Given the description of an element on the screen output the (x, y) to click on. 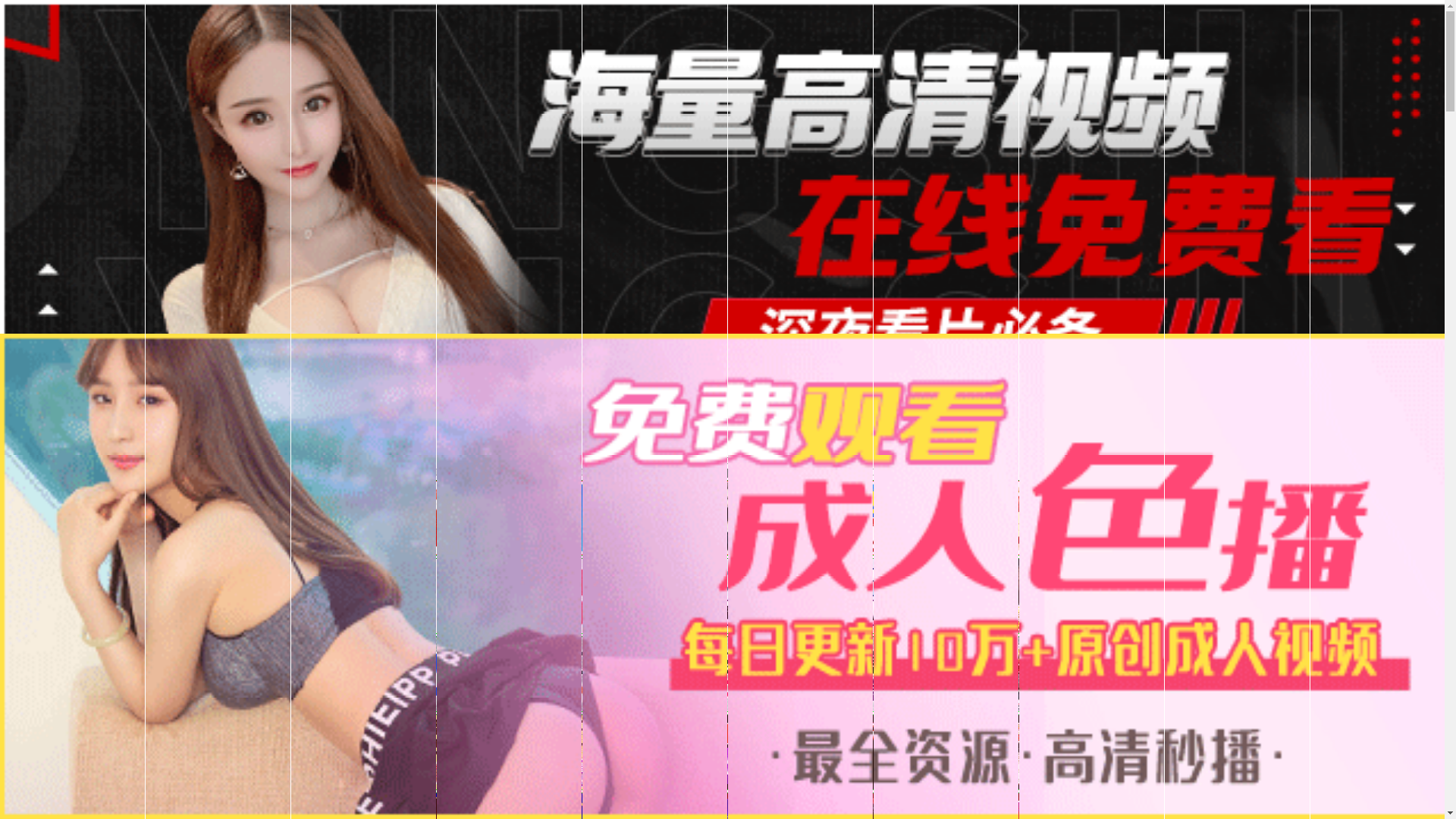
| Element type: text (1133, 471)
6686 Element type: hover (721, 747)
| Element type: text (1241, 471)
| Element type: text (1008, 471)
| Element type: text (1055, 471)
| Element type: text (945, 471)
| Element type: text (969, 471)
| Element type: text (1195, 471)
| Element type: text (1435, 471)
6686 Element type: hover (721, 552)
| Element type: text (1094, 471)
| Element type: text (1287, 471)
| Element type: text (1329, 471)
6686 Element type: hover (721, 669)
| Element type: text (1378, 471)
